Given the description of an element on the screen output the (x, y) to click on. 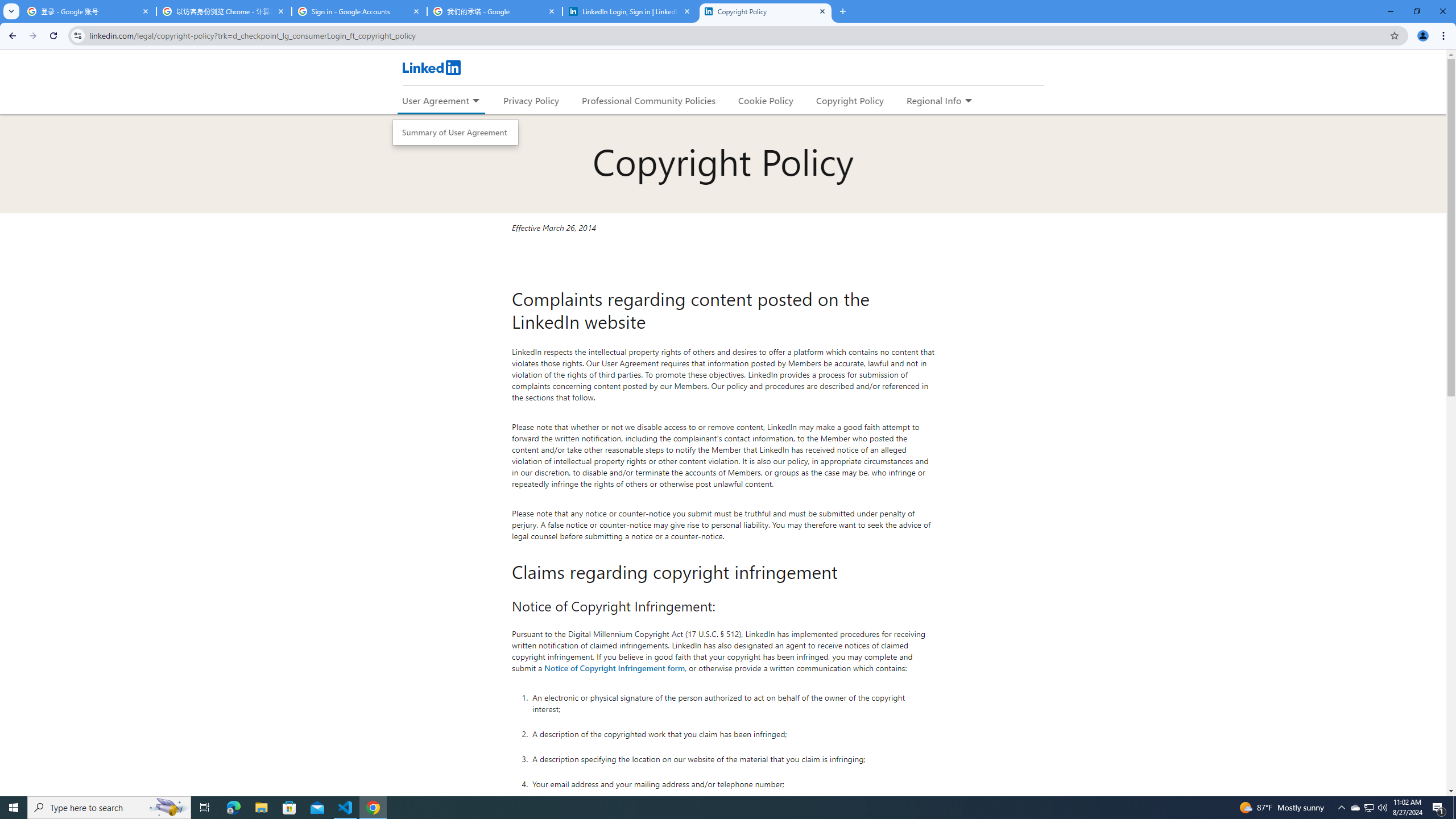
User Agreement (434, 100)
